Given the description of an element on the screen output the (x, y) to click on. 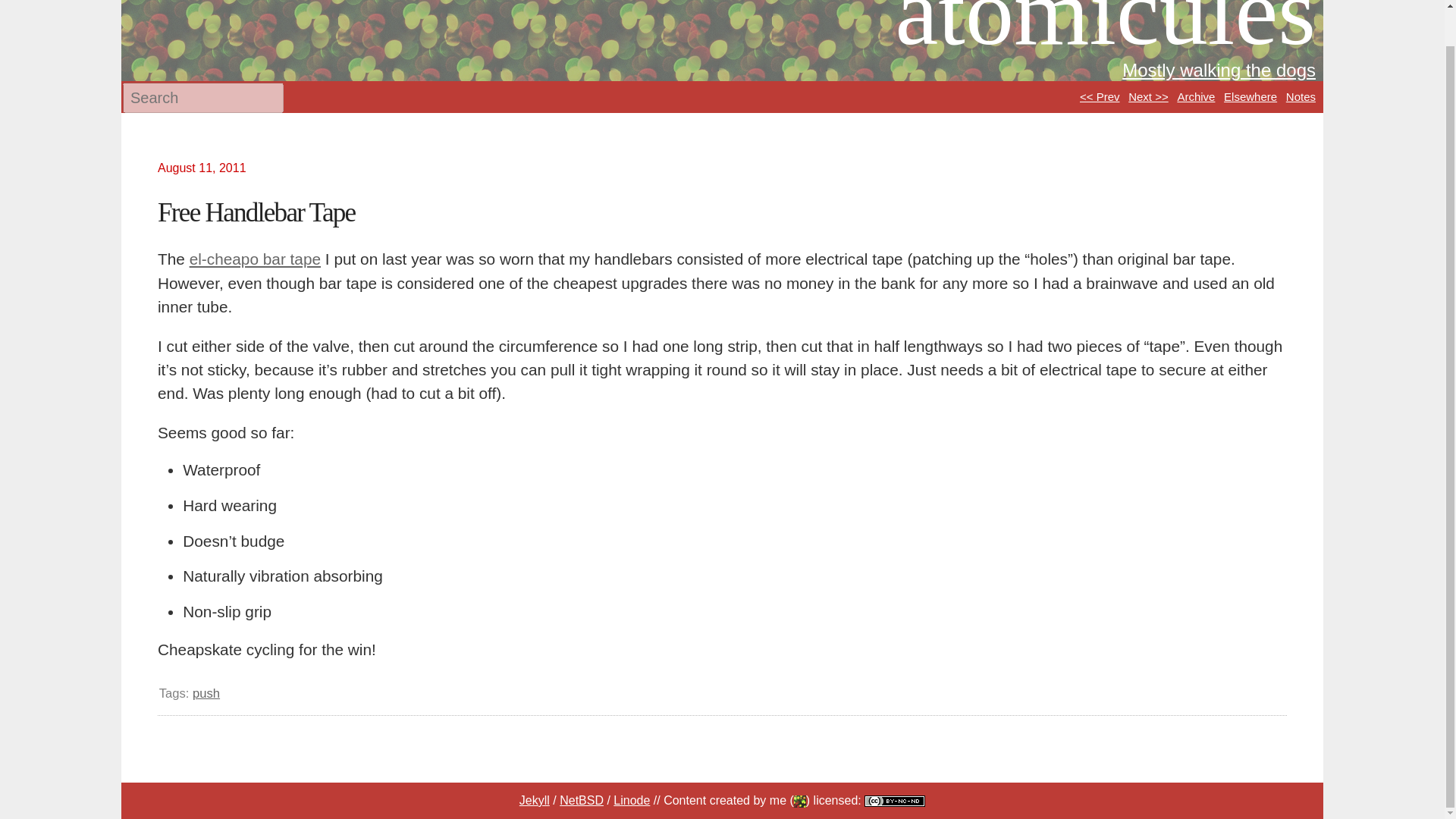
Jekyll (534, 799)
push (205, 693)
el-cheapo bar tape (254, 258)
August 11, 2011 (208, 167)
NetBSD (581, 799)
Linode (630, 799)
